Given the description of an element on the screen output the (x, y) to click on. 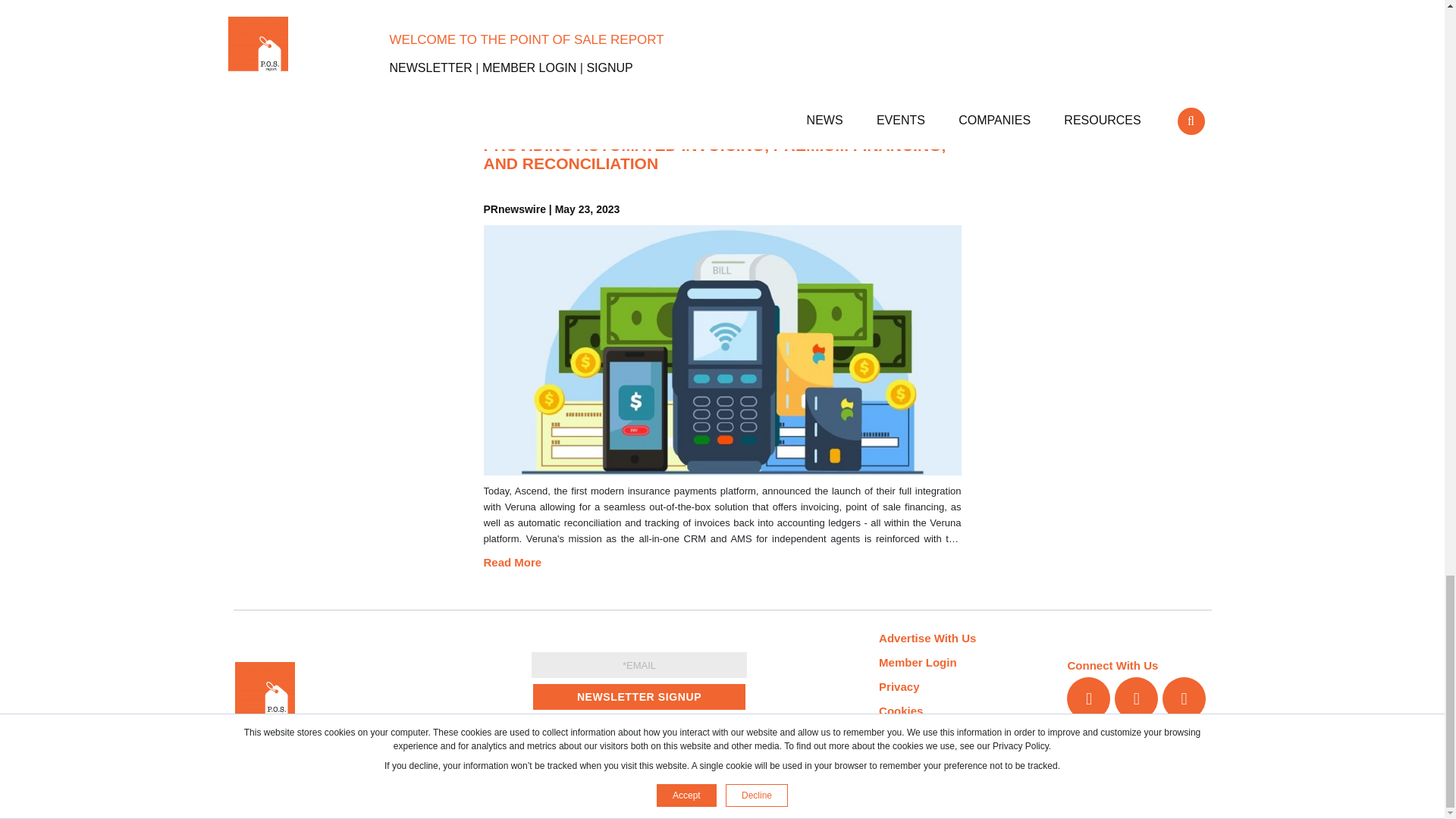
Newsletter Signup (638, 696)
